Given the description of an element on the screen output the (x, y) to click on. 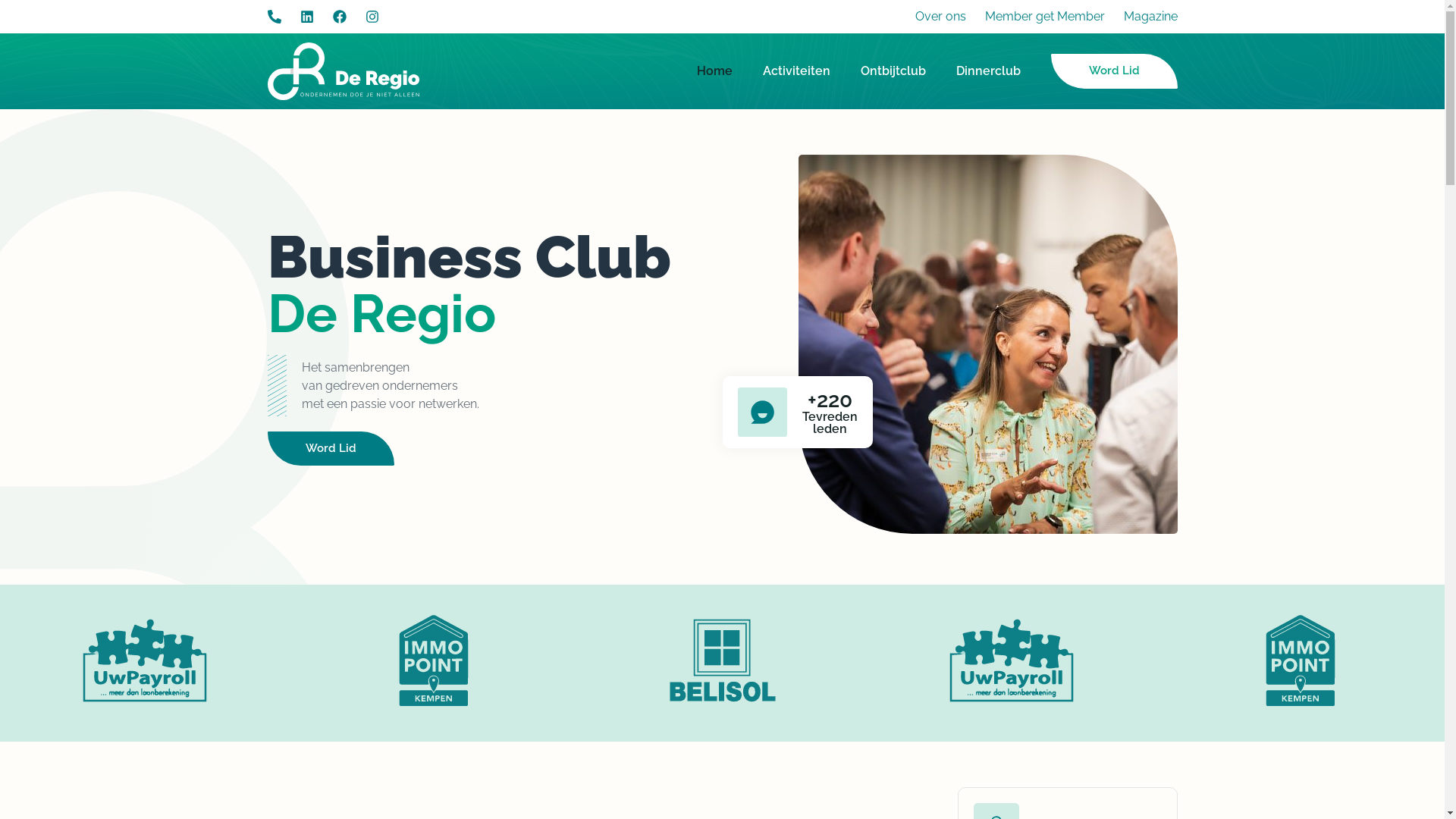
Home Element type: text (713, 70)
Over ons Element type: text (939, 16)
Dinnerclub Element type: text (987, 70)
Ontbijtclub Element type: text (892, 70)
Activiteiten Element type: text (796, 70)
Word Lid Element type: text (1114, 70)
Magazine Element type: text (1150, 16)
Member get Member Element type: text (1044, 16)
Word Lid Element type: text (329, 448)
